Given the description of an element on the screen output the (x, y) to click on. 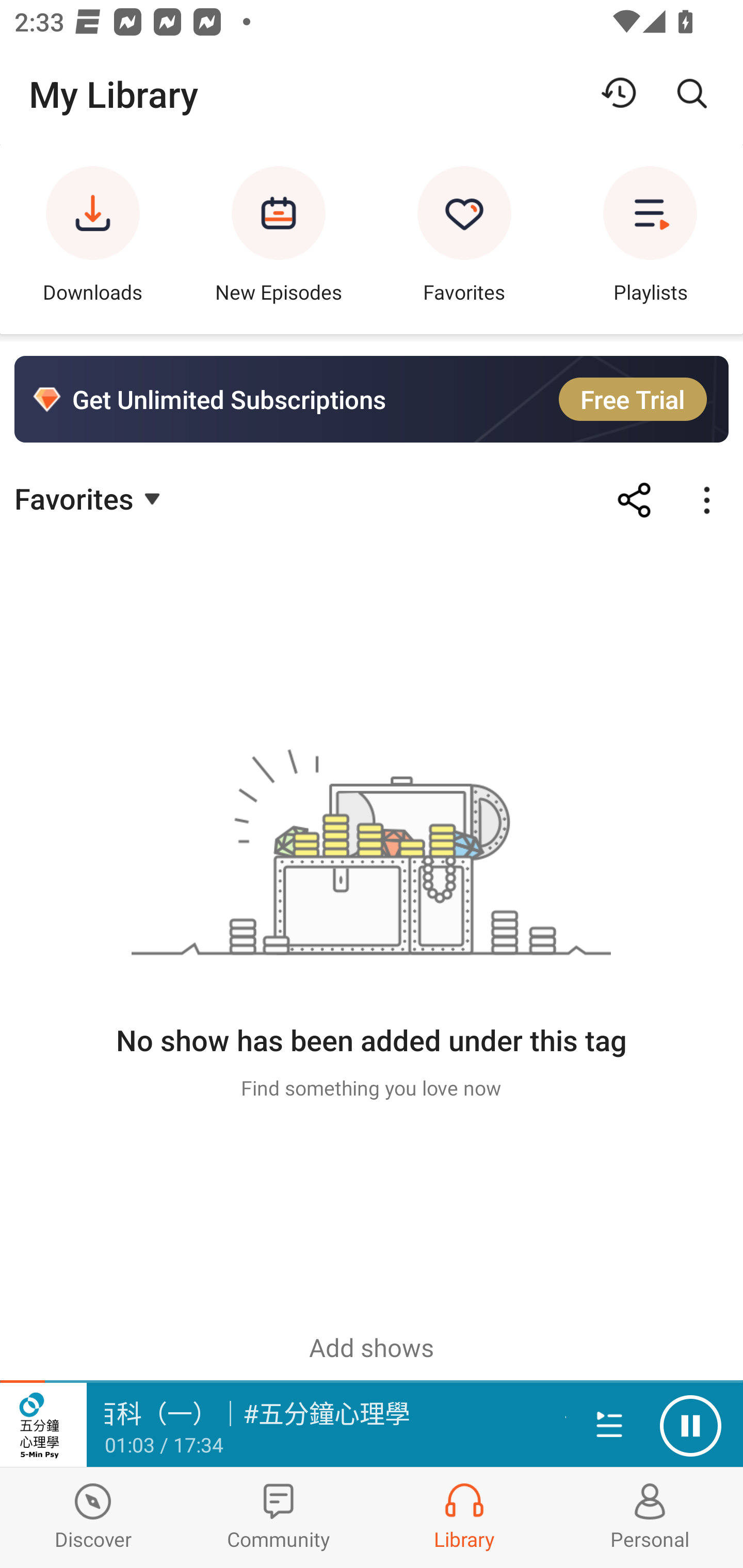
Downloads (92, 238)
New Episodes (278, 238)
Favorites (464, 238)
Playlists (650, 238)
Get Unlimited Subscriptions Free Trial (371, 398)
Free Trial (632, 398)
Favorites (90, 497)
Add shows (371, 1346)
Pause (690, 1425)
Discover (92, 1517)
Community (278, 1517)
Library (464, 1517)
Profiles and Settings Personal (650, 1517)
